Given the description of an element on the screen output the (x, y) to click on. 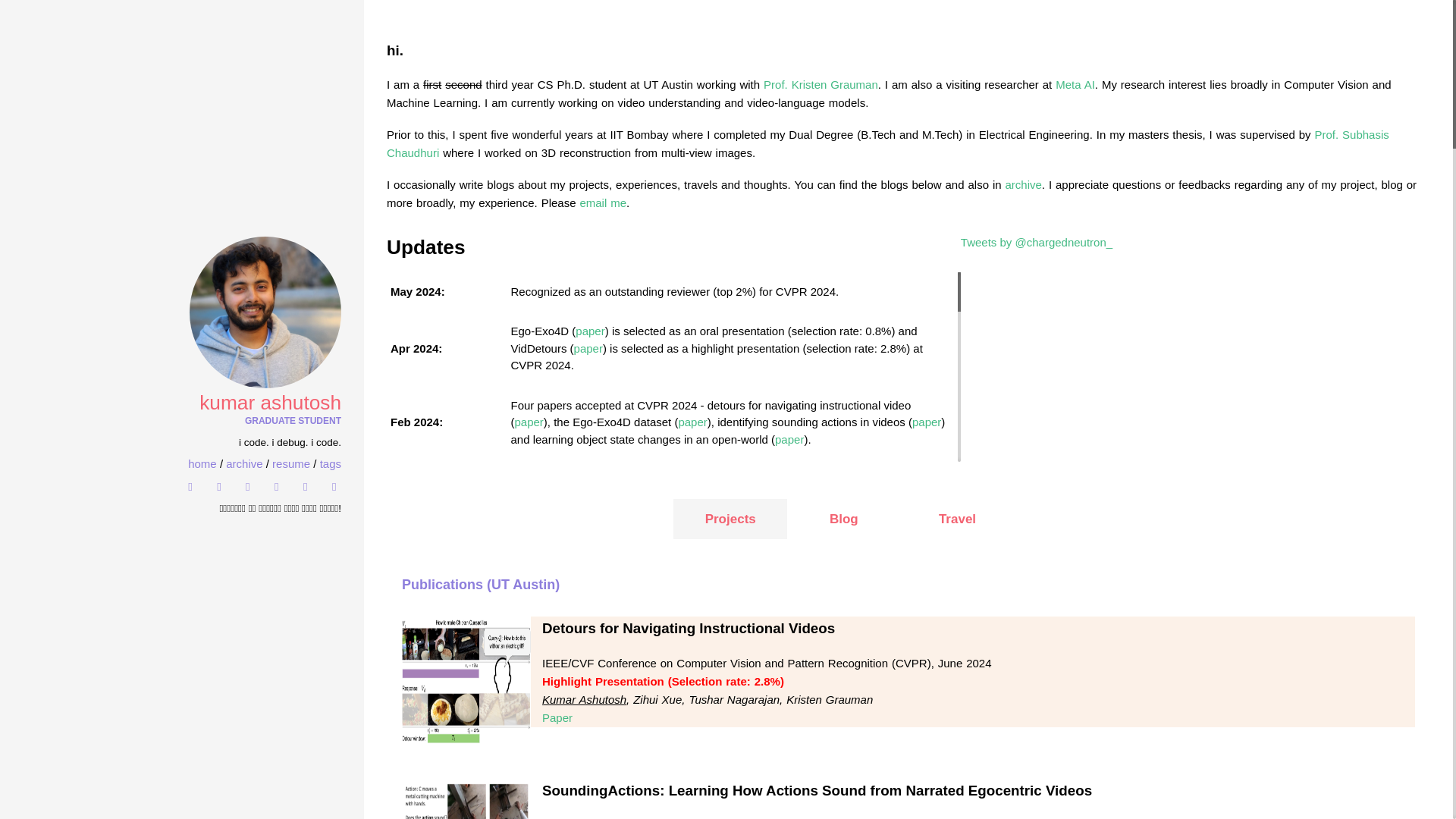
Prof. Kristen Grauman (819, 83)
paper (926, 421)
resume (291, 463)
kumar ashutosh (181, 402)
paper (587, 348)
Prof. Subhasis Chaudhuri (888, 142)
paper (528, 421)
HierVL (804, 535)
paper (788, 439)
Meta AI (712, 671)
